Given the description of an element on the screen output the (x, y) to click on. 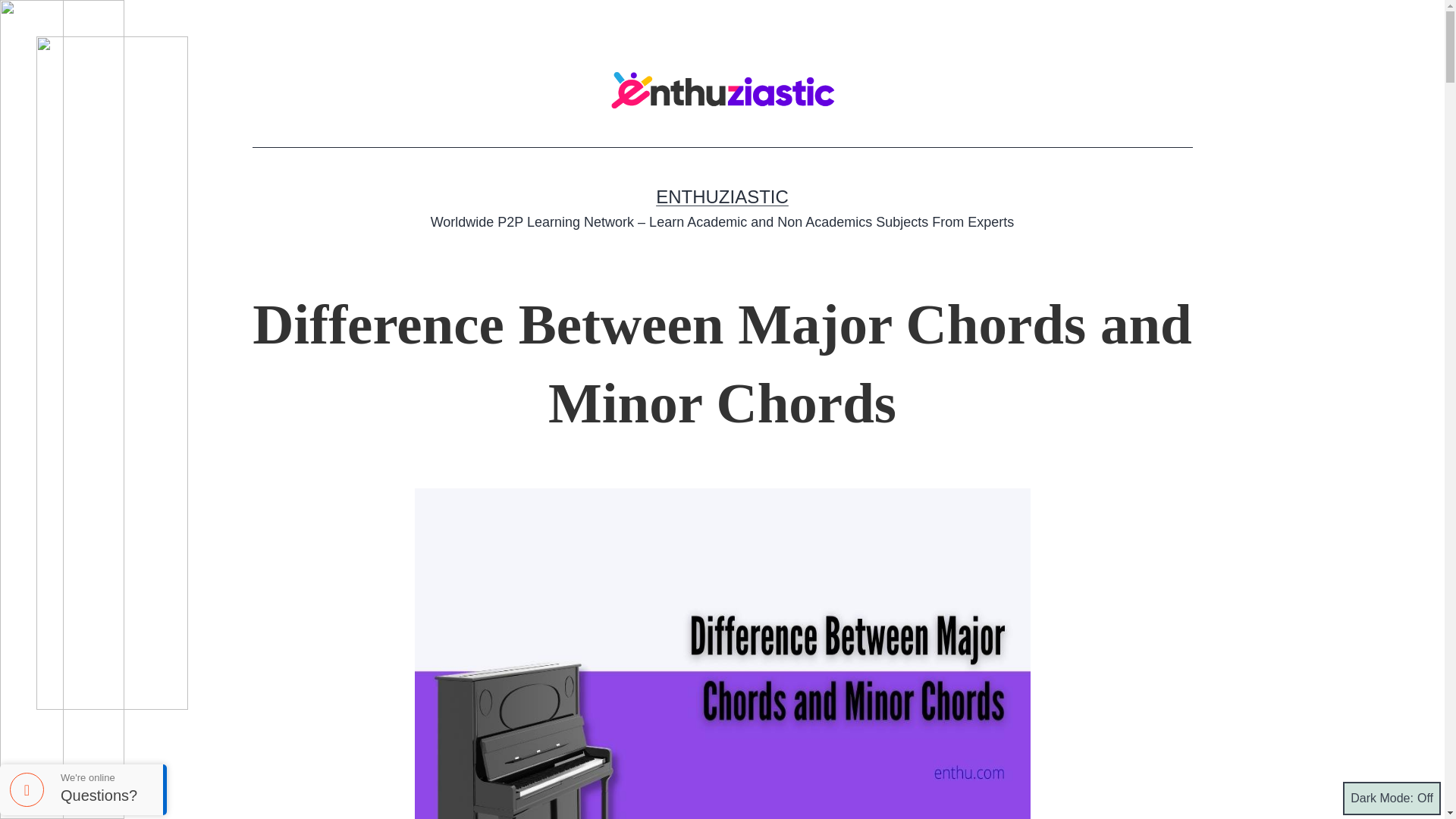
We're online (106, 777)
Questions? (106, 795)
ENTHUZIASTIC (722, 196)
